Given the description of an element on the screen output the (x, y) to click on. 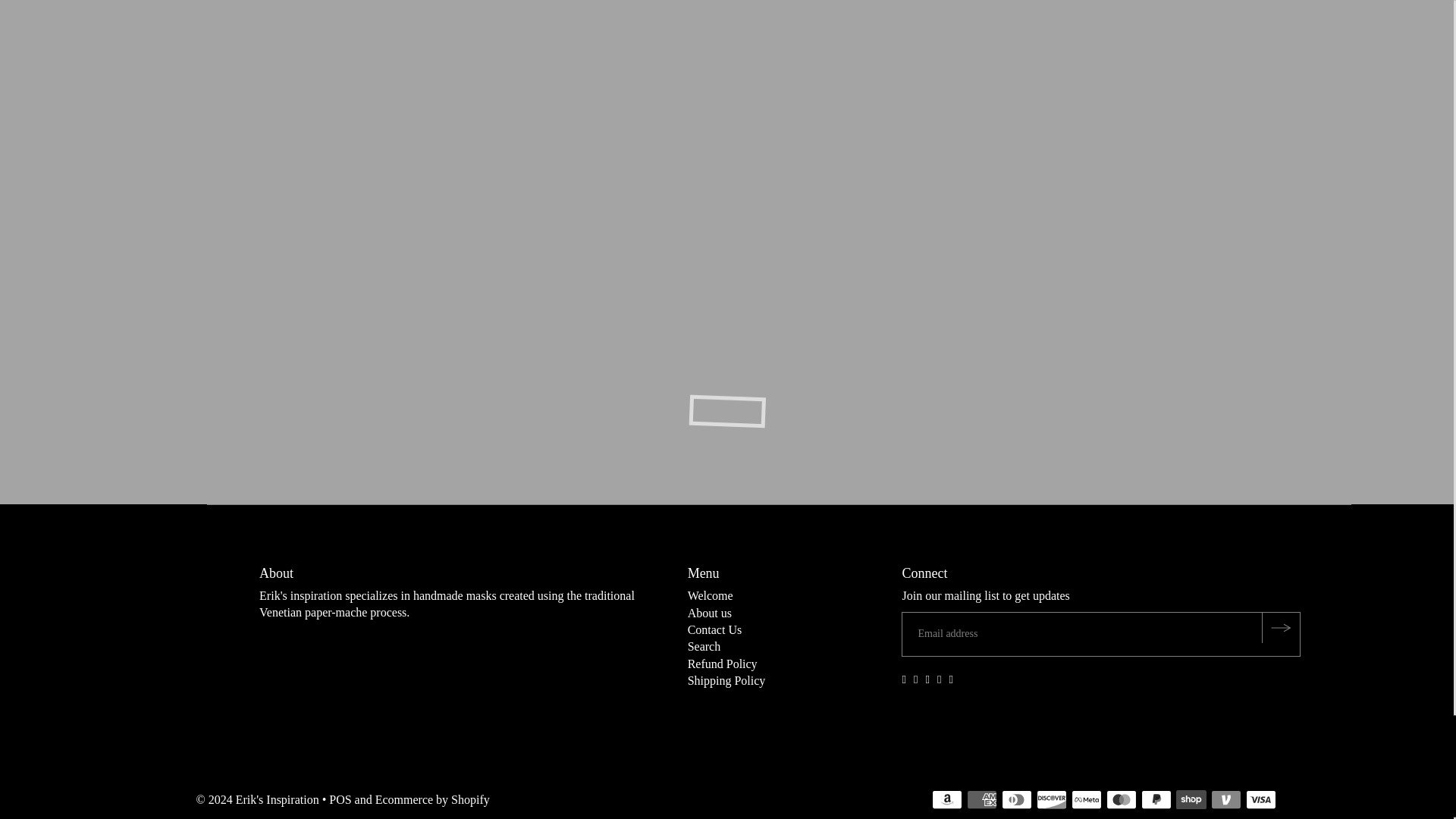
Amazon (946, 799)
Discover (1051, 799)
Diners Club (1016, 799)
American Express (981, 799)
Meta Pay (1086, 799)
Venmo (1226, 799)
Visa (1261, 799)
PayPal (1156, 799)
Mastercard (1121, 799)
Shop Pay (1191, 799)
